Given the description of an element on the screen output the (x, y) to click on. 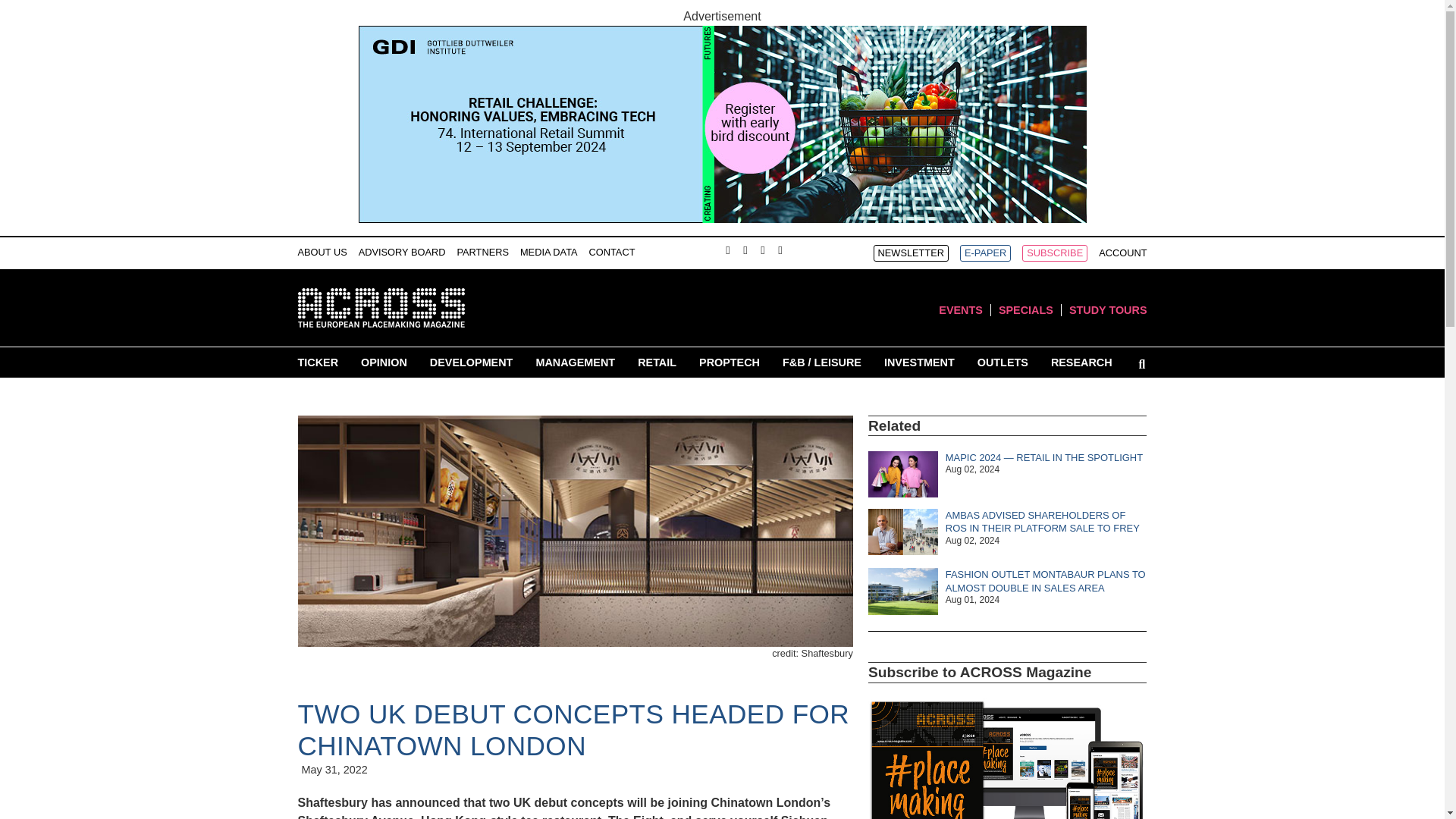
CONTACT (611, 252)
NEWSLETTER (911, 252)
Subscribe to the ACROSS Newsletter (911, 252)
OPINION (384, 362)
SUBSCRIBE (1054, 252)
ADVISORY BOARD (401, 252)
OUTLETS (1001, 362)
ACCOUNT (1123, 252)
ABOUT US (321, 252)
EVENTS (960, 309)
